Given the description of an element on the screen output the (x, y) to click on. 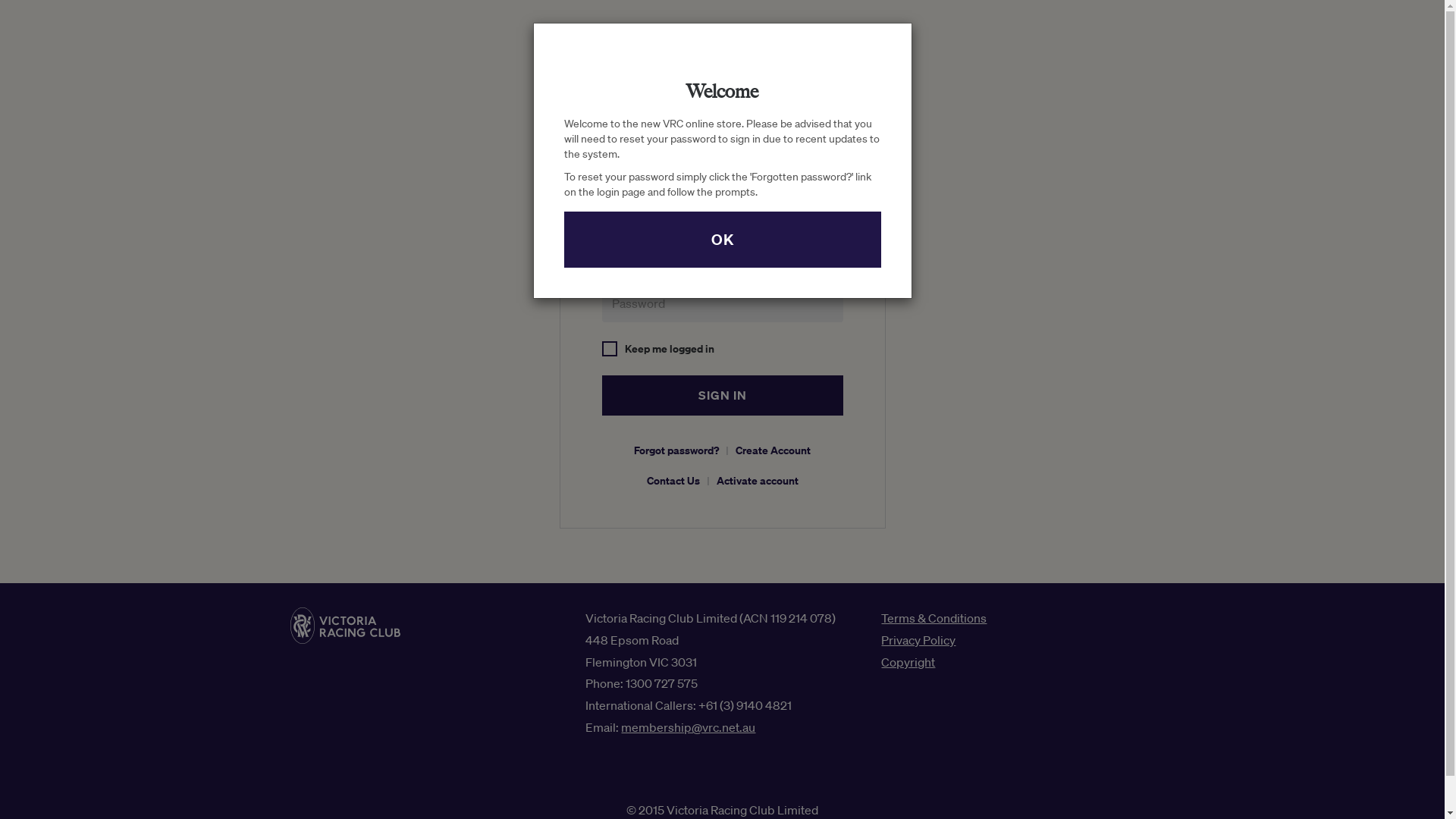
Forgot password? Element type: text (675, 449)
Create Account Element type: text (772, 449)
OK Element type: text (722, 239)
membership@vrc.net.au Element type: text (688, 726)
Contact Us Element type: text (672, 480)
Activate account Element type: text (756, 480)
Privacy Policy Element type: text (918, 639)
Copyright Element type: text (908, 661)
SIGN IN Element type: text (722, 395)
Terms & Conditions Element type: text (933, 617)
